Given the description of an element on the screen output the (x, y) to click on. 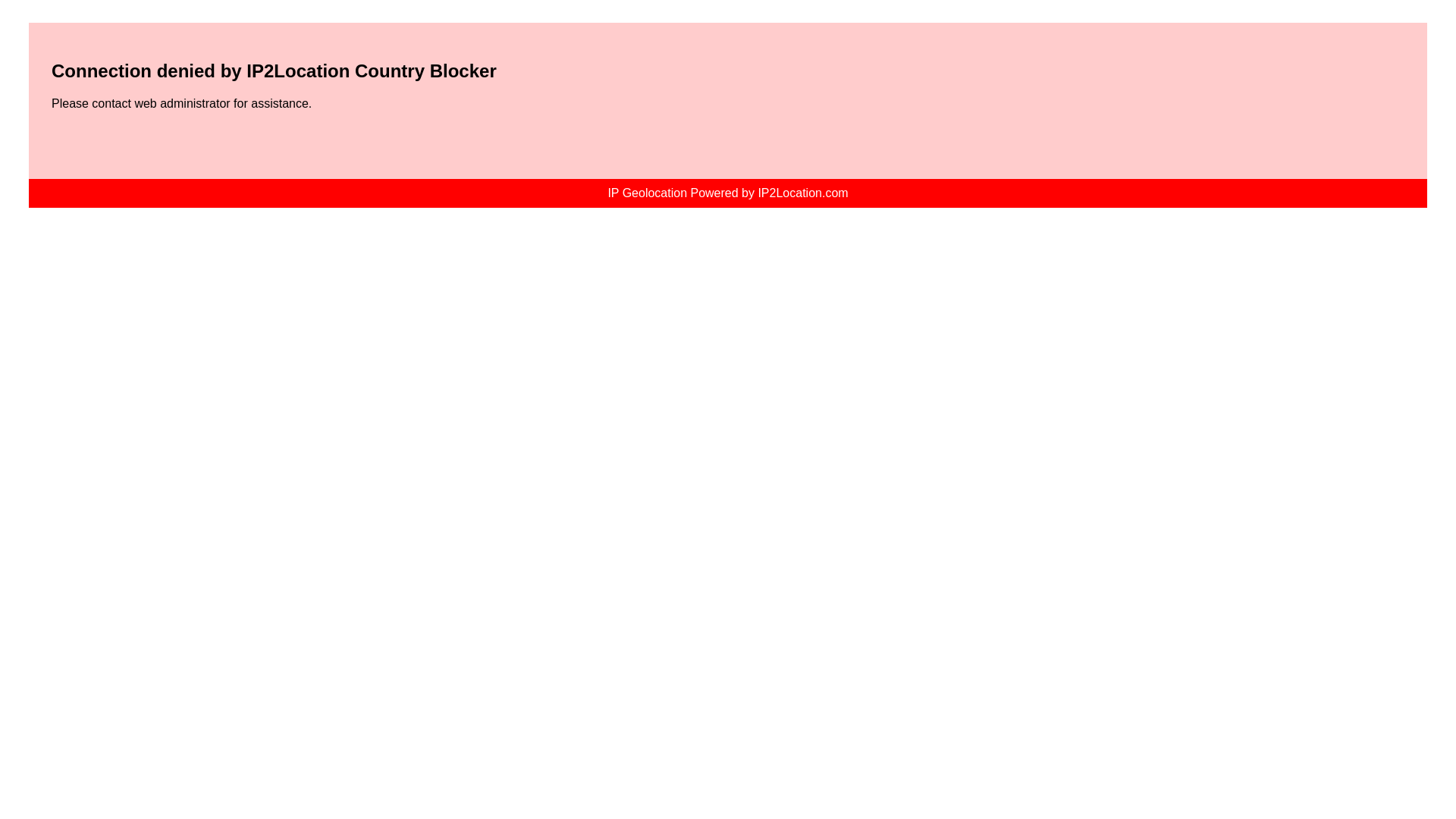
IP Geolocation Powered by IP2Location.com (727, 192)
